Given the description of an element on the screen output the (x, y) to click on. 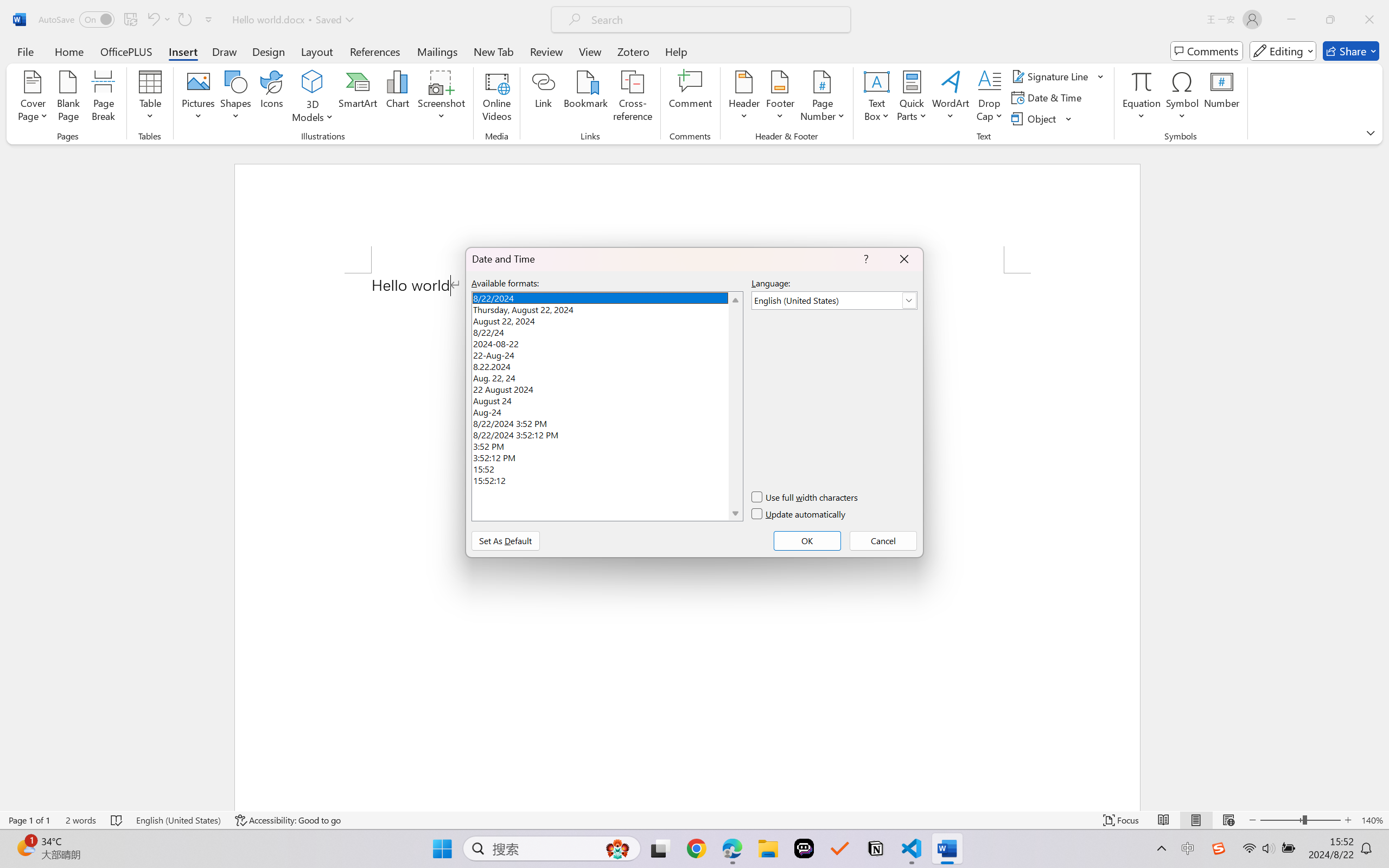
AutoSave (76, 19)
Mailings (437, 51)
Icons (271, 97)
Text Box (876, 97)
3D Models (312, 97)
AutomationID: 17 (734, 405)
Equation (1141, 97)
Object... (1042, 118)
Online Videos... (496, 97)
OfficePLUS (126, 51)
Aug. 22, 24 (606, 376)
Restore Down (1330, 19)
Object... (1035, 118)
SmartArt... (358, 97)
